Given the description of an element on the screen output the (x, y) to click on. 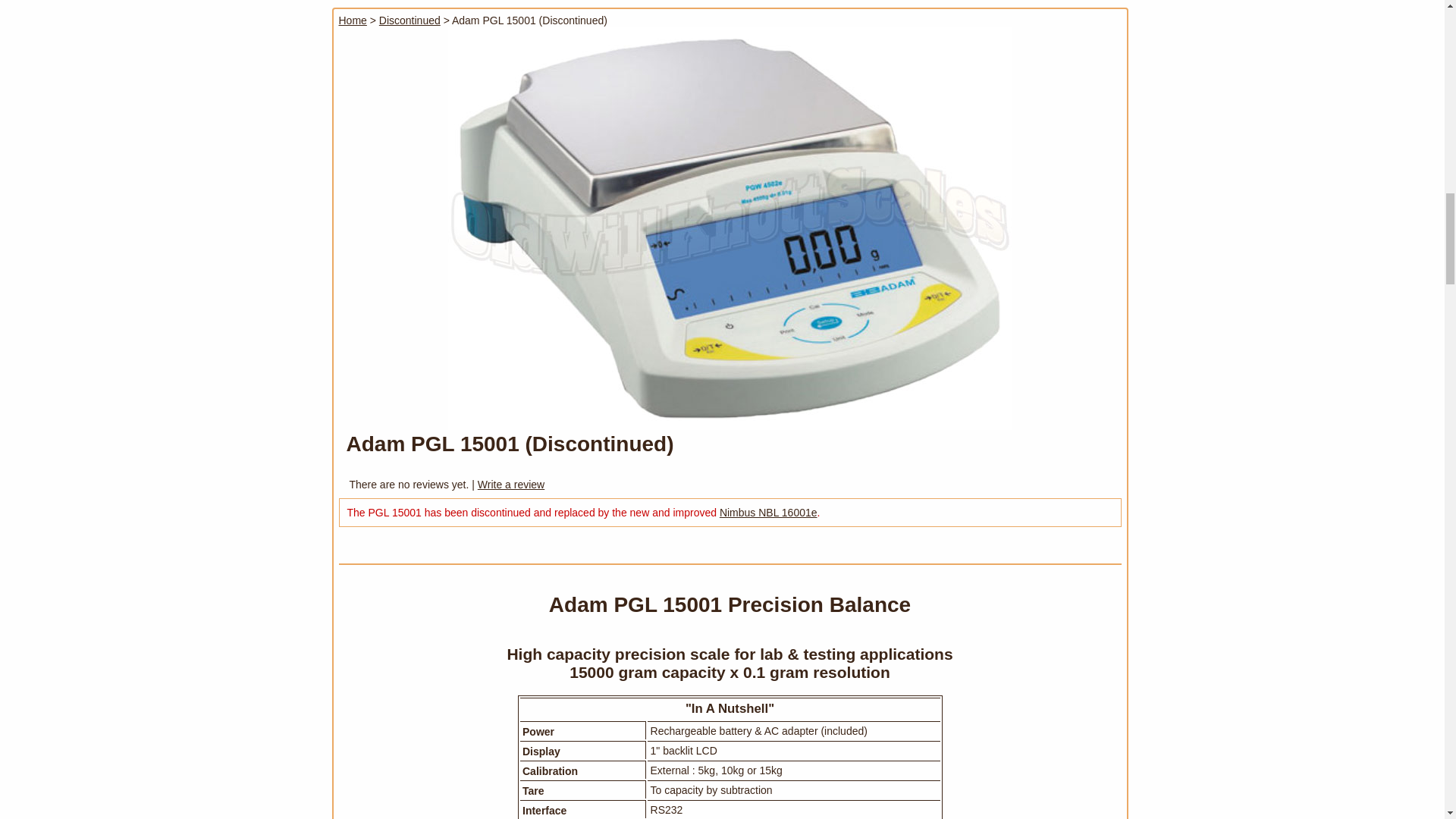
Go see the NBL 16001e (767, 512)
